Given the description of an element on the screen output the (x, y) to click on. 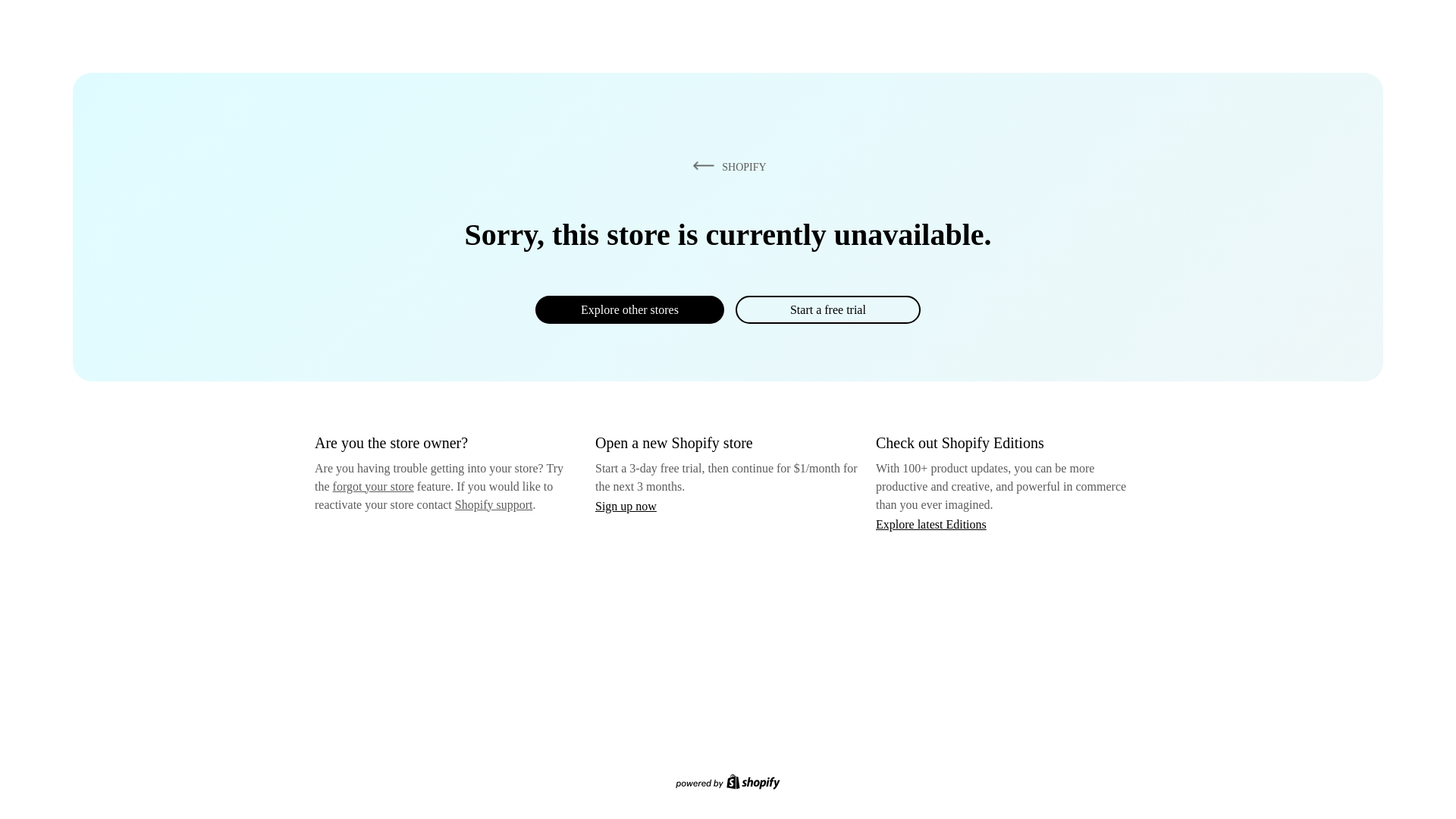
forgot your store (373, 486)
Explore latest Editions (931, 523)
Explore other stores (629, 309)
Sign up now (625, 505)
Shopify support (493, 504)
Start a free trial (827, 309)
SHOPIFY (726, 166)
